Given the description of an element on the screen output the (x, y) to click on. 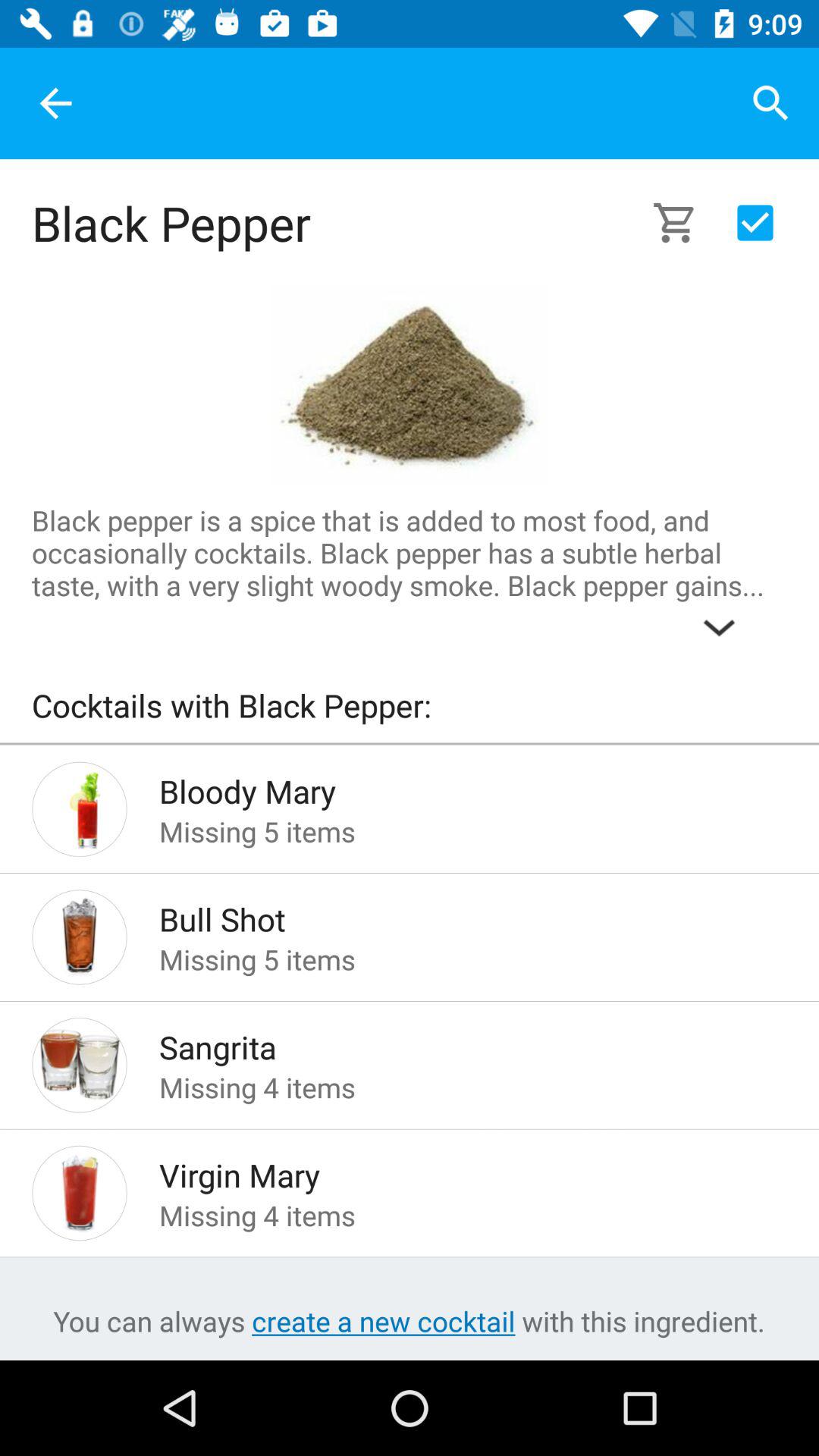
choose the icon above the missing 5 items icon (449, 914)
